Given the description of an element on the screen output the (x, y) to click on. 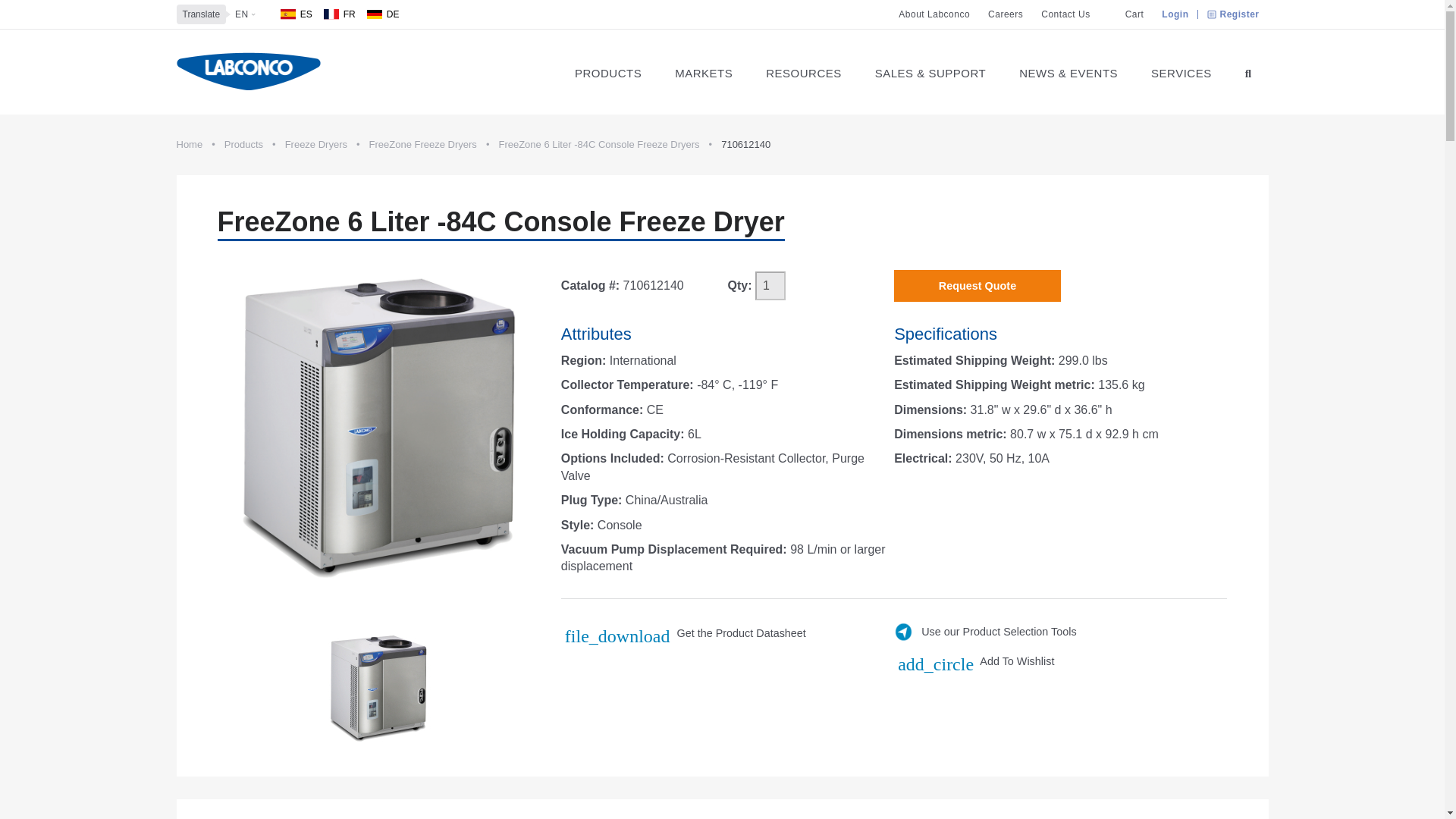
About Labconco (933, 13)
MARKETS (703, 71)
Cart (1128, 13)
FR (339, 14)
PRODUCTS (607, 71)
Register (1233, 13)
ES (297, 14)
Login (1175, 13)
1 (770, 285)
Careers (1005, 13)
EN (241, 13)
Contact Us (1065, 13)
SERVICES (1181, 71)
RESOURCES (804, 71)
DE (382, 14)
